Given the description of an element on the screen output the (x, y) to click on. 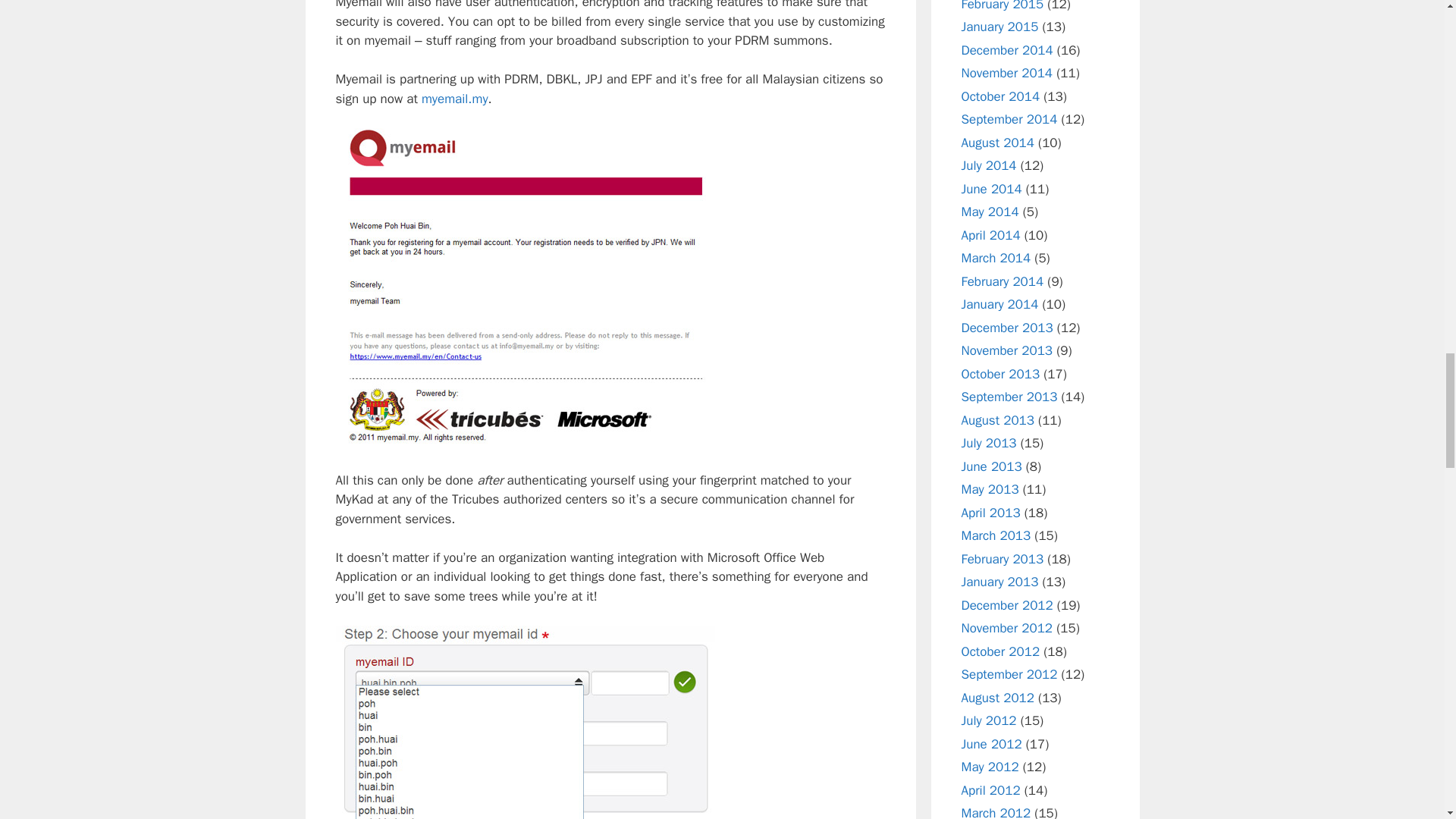
myemail.my (454, 98)
